Given the description of an element on the screen output the (x, y) to click on. 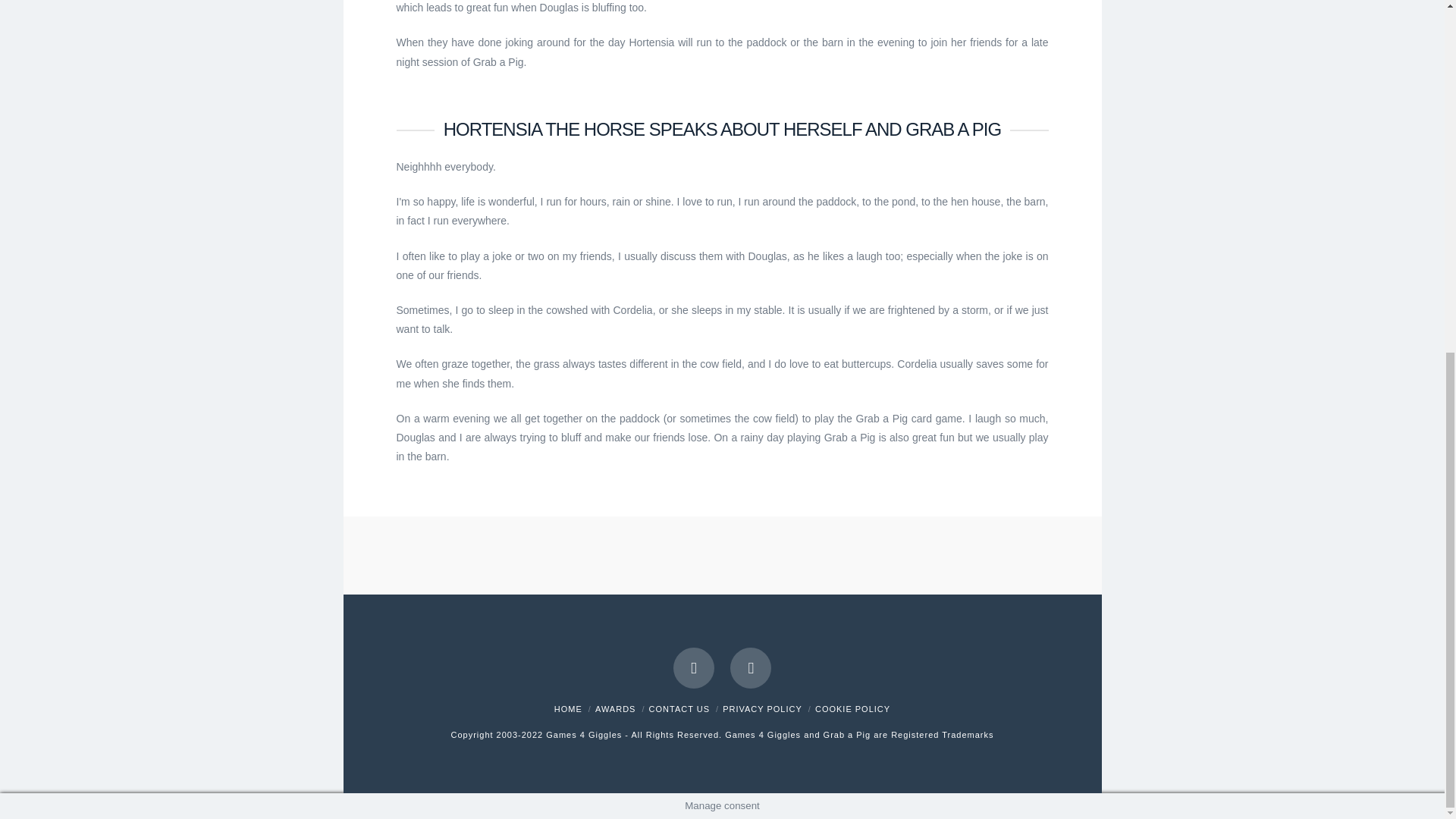
Twitter (750, 667)
Facebook (693, 667)
